Given the description of an element on the screen output the (x, y) to click on. 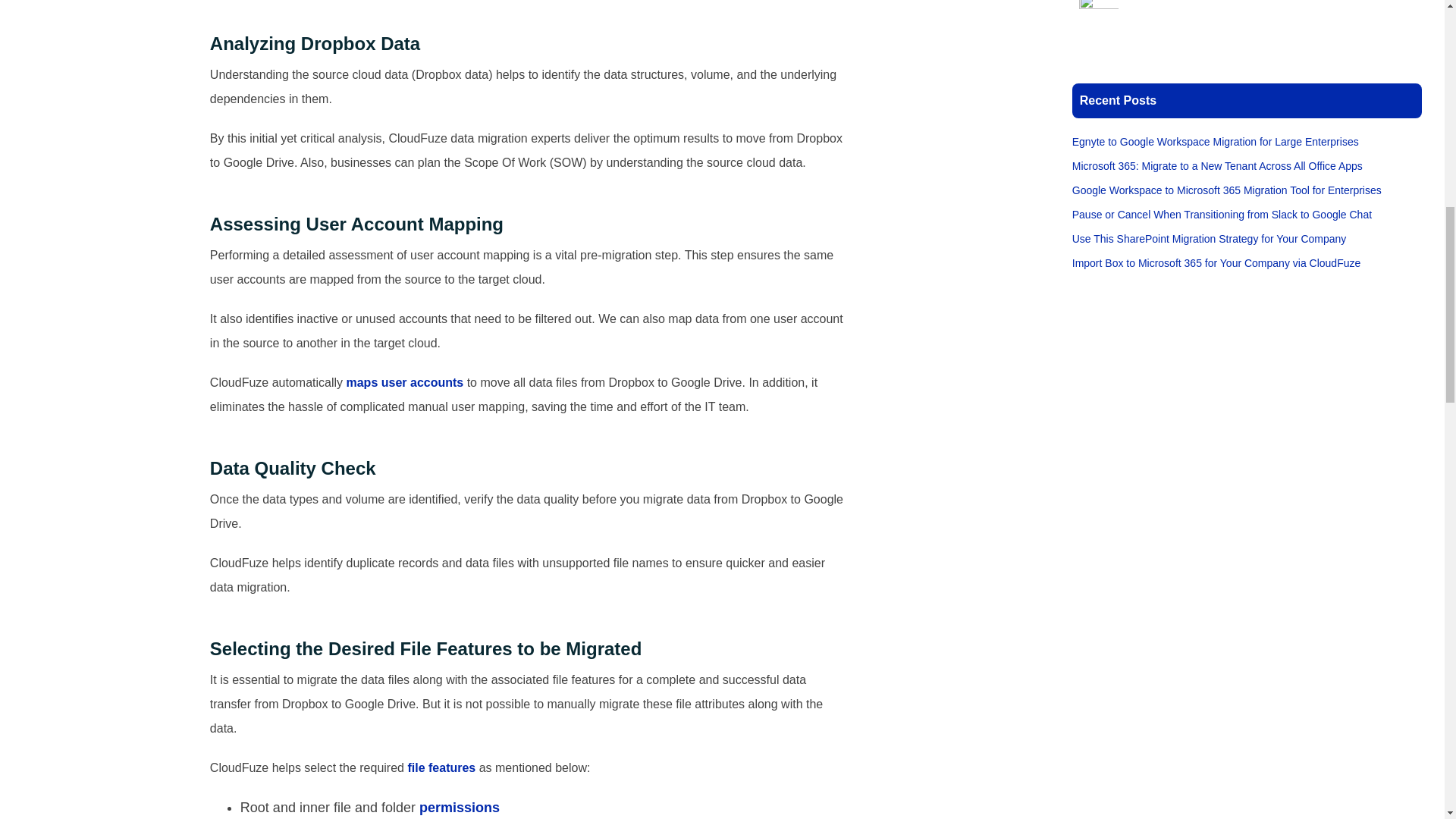
file features (441, 767)
maps user accounts (402, 382)
